Given the description of an element on the screen output the (x, y) to click on. 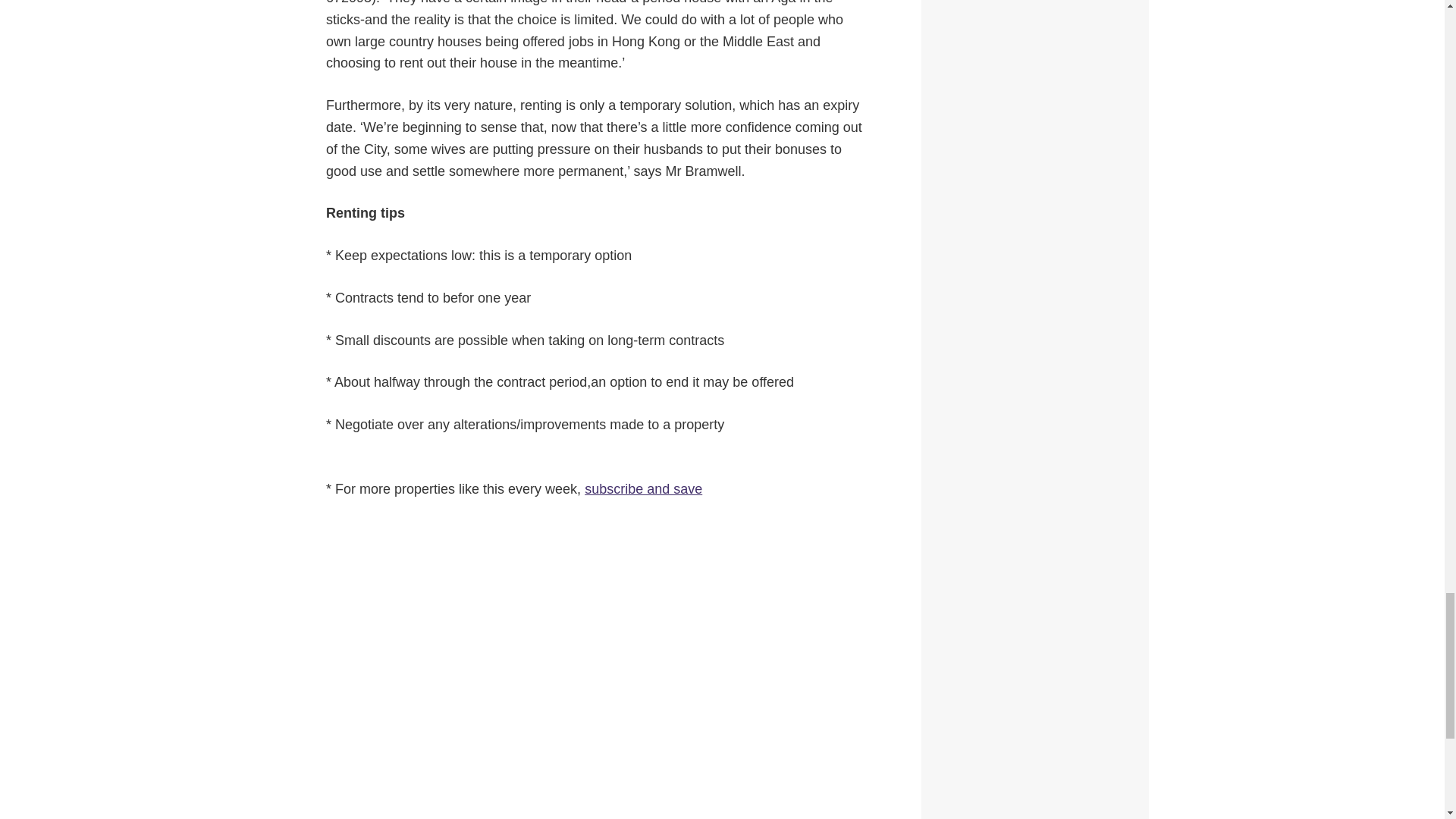
country life (643, 488)
